Given the description of an element on the screen output the (x, y) to click on. 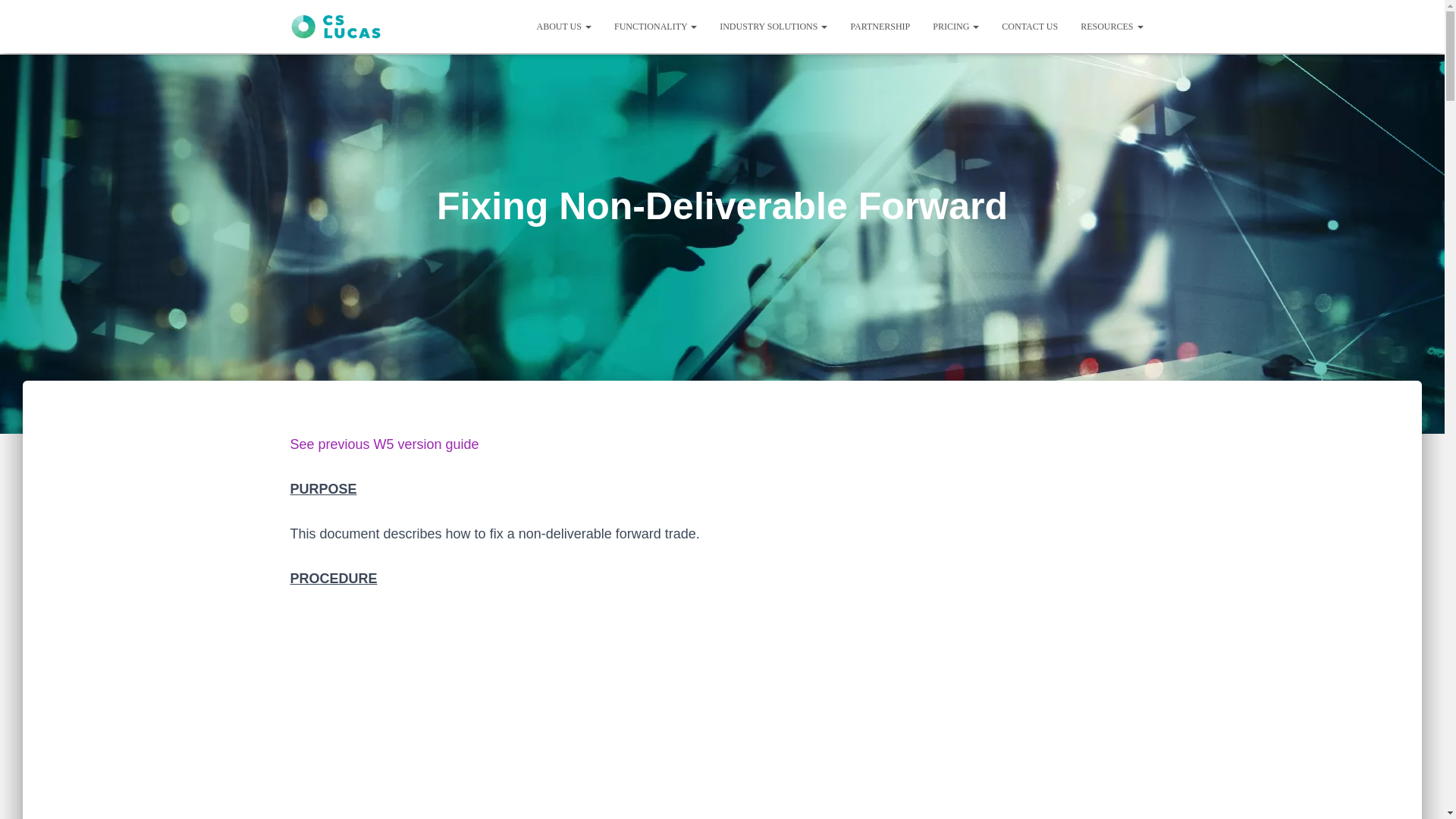
Functionality (654, 26)
PRICING (955, 26)
See previous W5 version guide (384, 444)
PARTNERSHIP (879, 26)
CS Lucas (336, 26)
About Us (563, 26)
ABOUT US (563, 26)
Industry Solutions (772, 26)
RESOURCES (1111, 26)
CONTACT US (1029, 26)
